Given the description of an element on the screen output the (x, y) to click on. 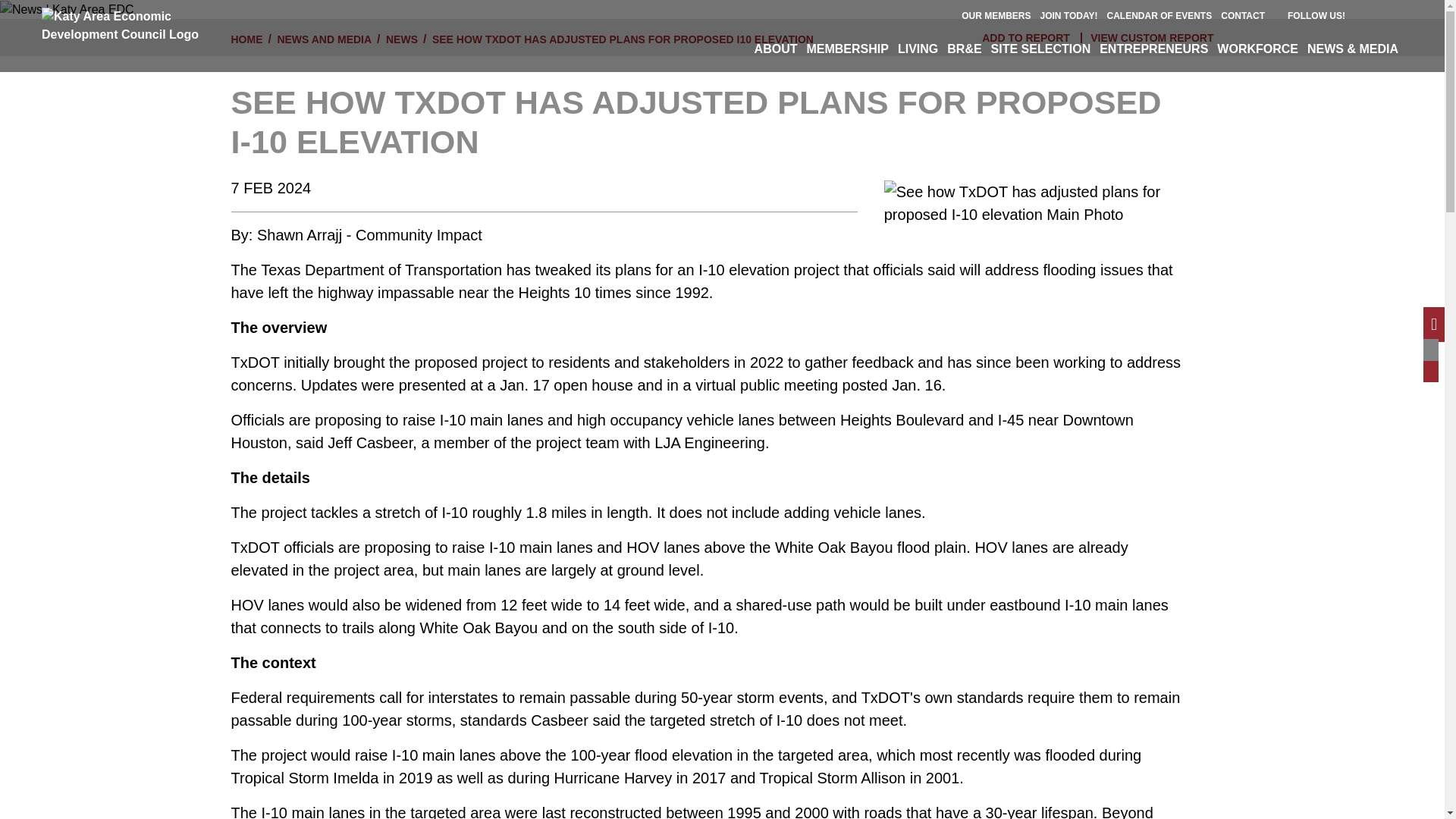
JOIN TODAY! (1069, 15)
MEMBERSHIP (847, 48)
ABOUT (775, 48)
OUR MEMBERS (995, 15)
LIVING (917, 48)
CONTACT (1243, 15)
CALENDAR OF EVENTS (1159, 15)
